Given the description of an element on the screen output the (x, y) to click on. 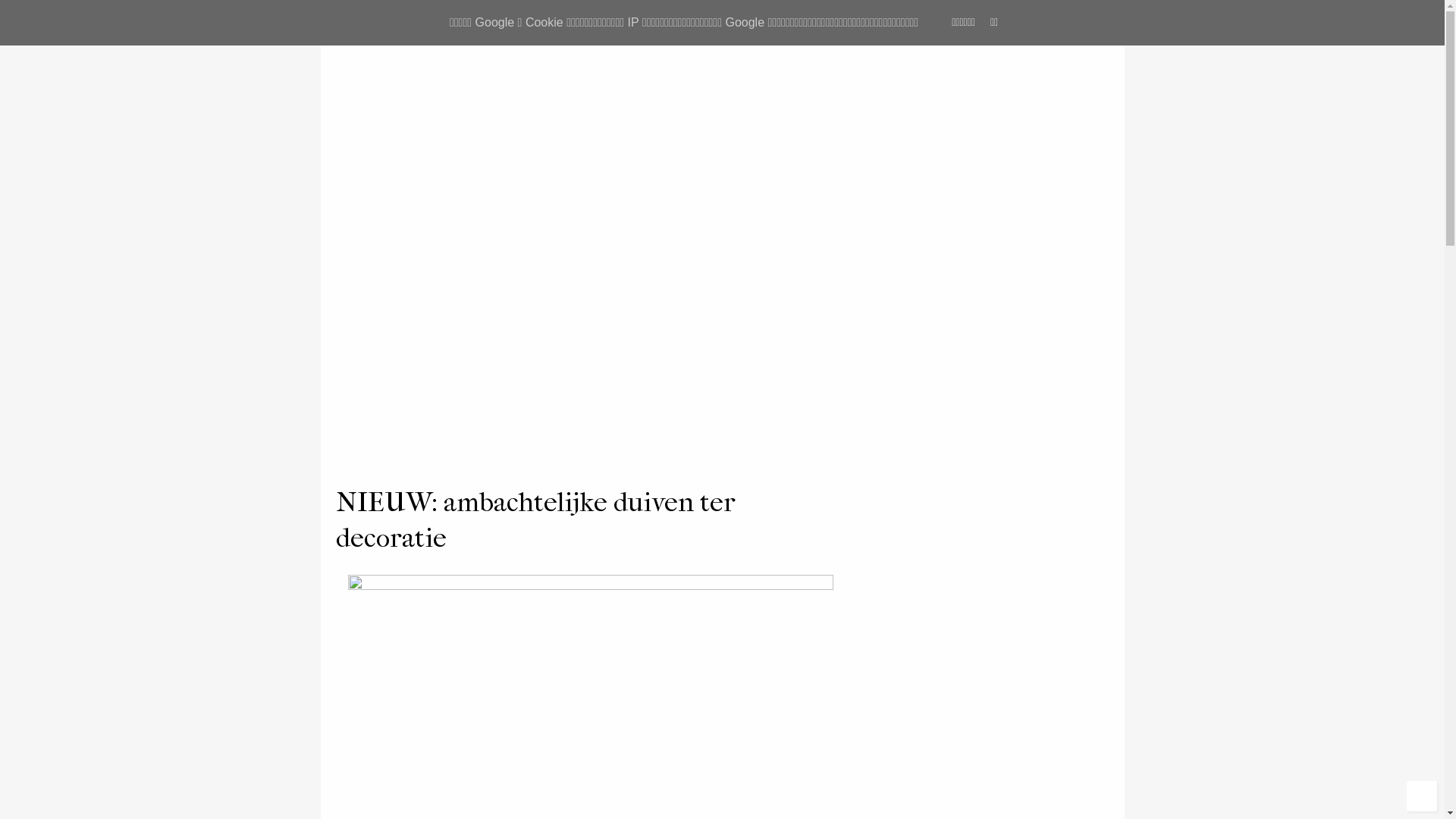
Inschrijven Element type: text (906, 645)
Lees hier onze Privacy & Cookies regels Element type: text (957, 681)
